Given the description of an element on the screen output the (x, y) to click on. 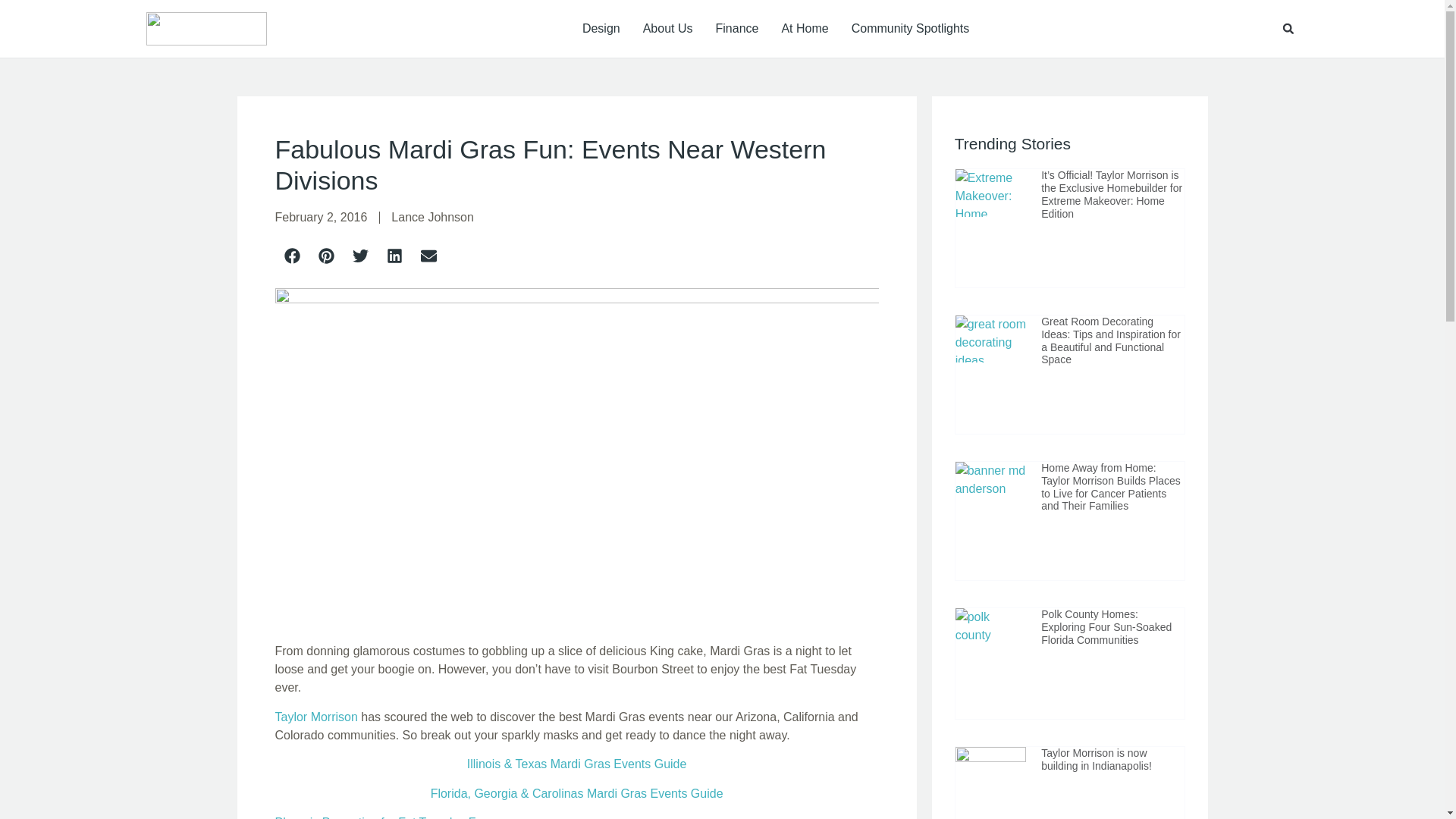
February 2, 2016 (320, 217)
Phoenix Properties for Fat Tuesday Fun (382, 817)
Community Spotlights (910, 28)
At Home (804, 28)
About Us (668, 28)
Taylor Morrison (315, 716)
Finance (737, 28)
Design (601, 28)
